Given the description of an element on the screen output the (x, y) to click on. 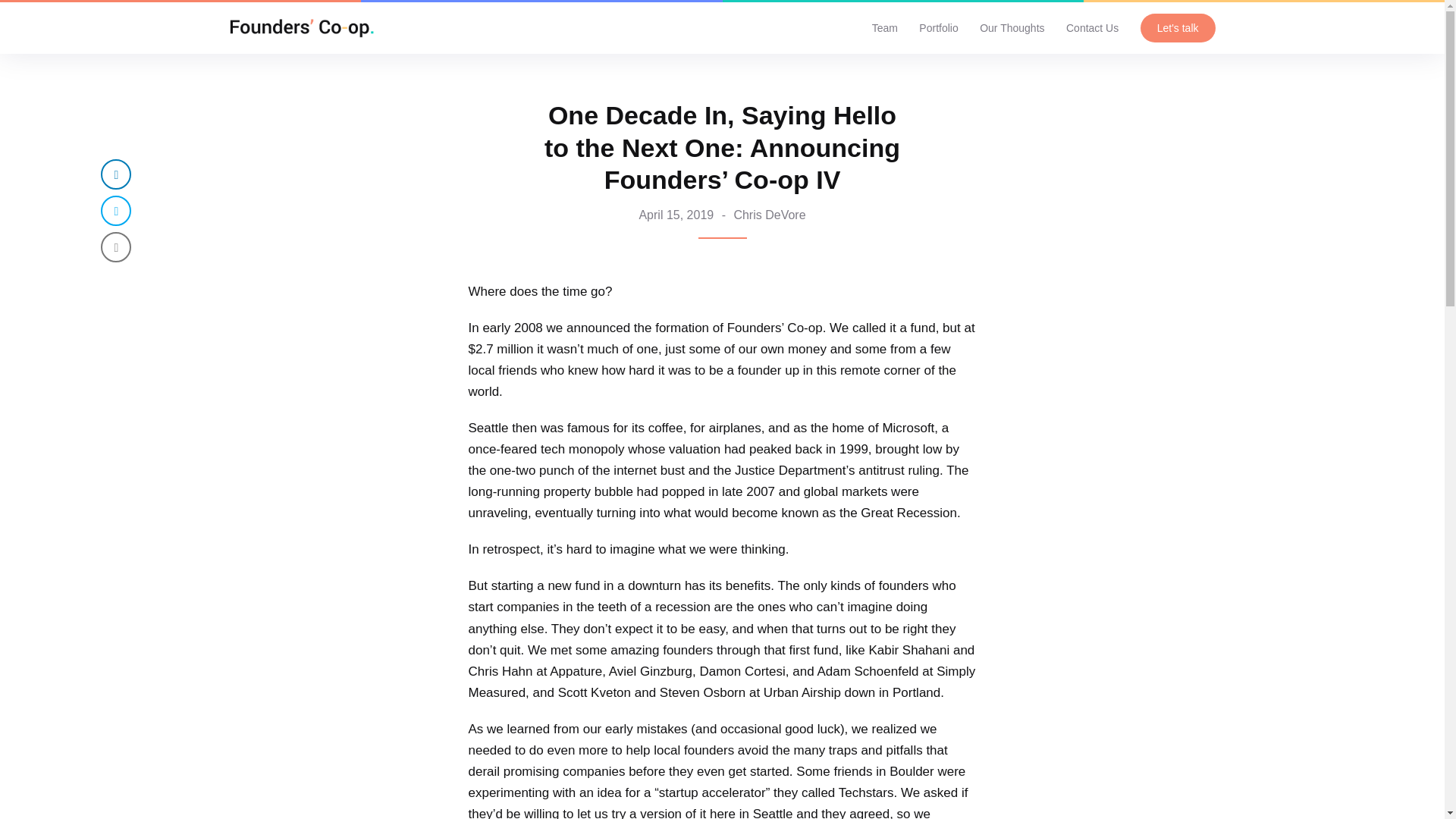
Let's talk (1177, 27)
Contact Us (1091, 27)
Portfolio (938, 27)
Contact Us (1091, 27)
Team (885, 27)
Our Thoughts (1011, 27)
